Given the description of an element on the screen output the (x, y) to click on. 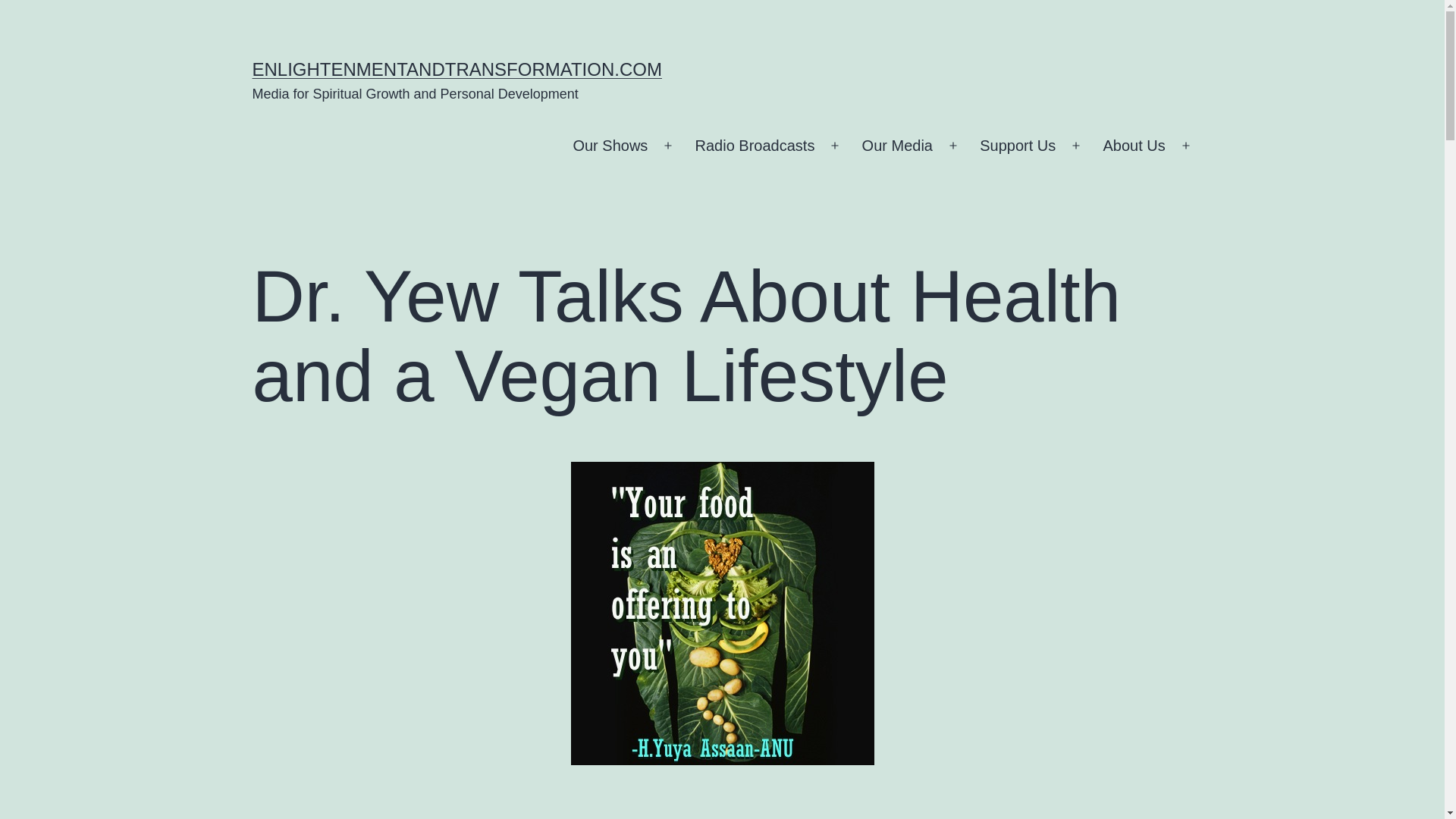
Radio Broadcasts (754, 145)
Our Media (896, 145)
Support Us (1017, 145)
ENLIGHTENMENTANDTRANSFORMATION.COM (456, 68)
Our Shows (610, 145)
